Given the description of an element on the screen output the (x, y) to click on. 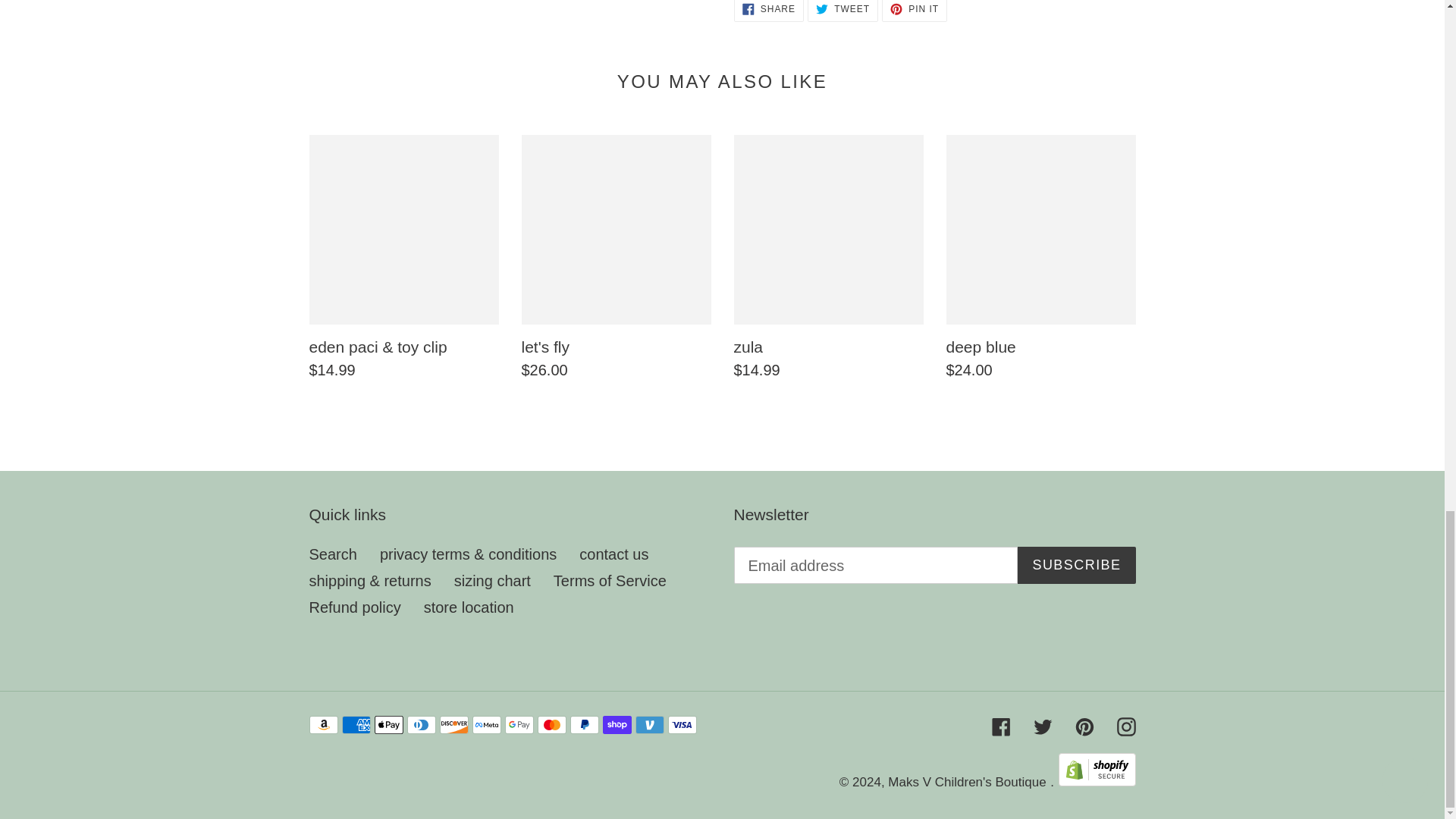
This online store is secured by Shopify (842, 11)
